Given the description of an element on the screen output the (x, y) to click on. 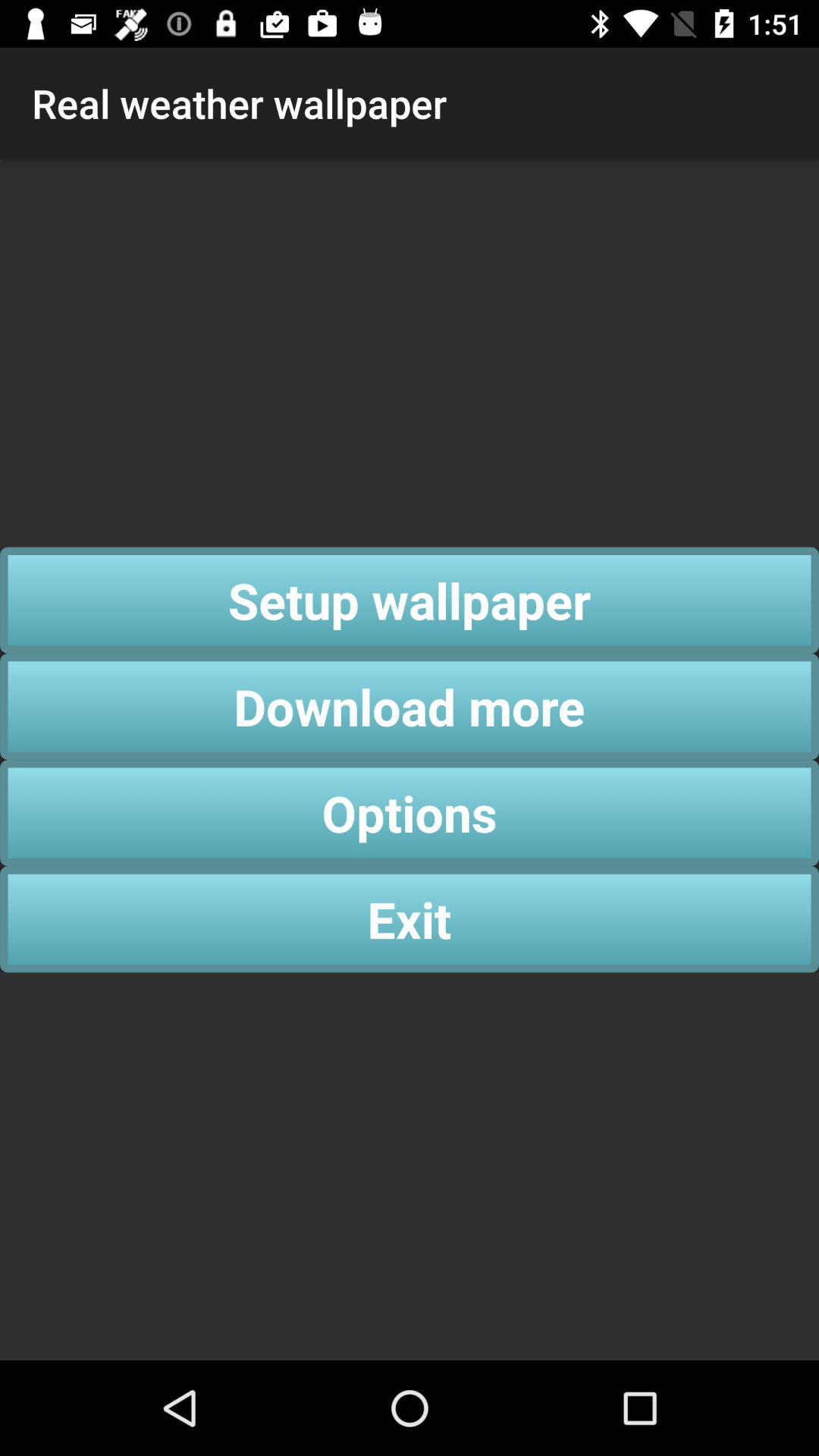
choose the options (409, 812)
